Given the description of an element on the screen output the (x, y) to click on. 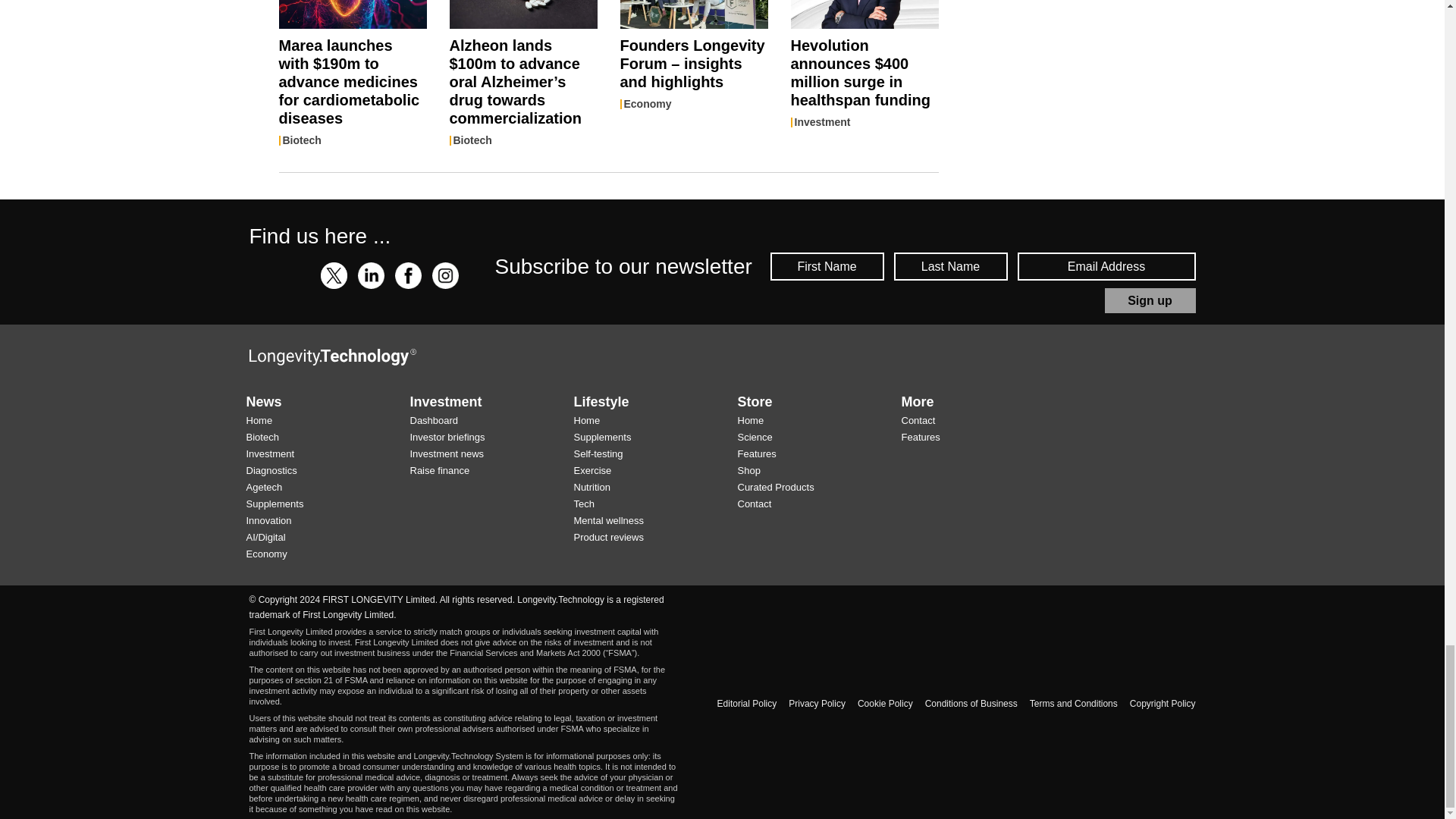
Sign up (1149, 300)
